Given the description of an element on the screen output the (x, y) to click on. 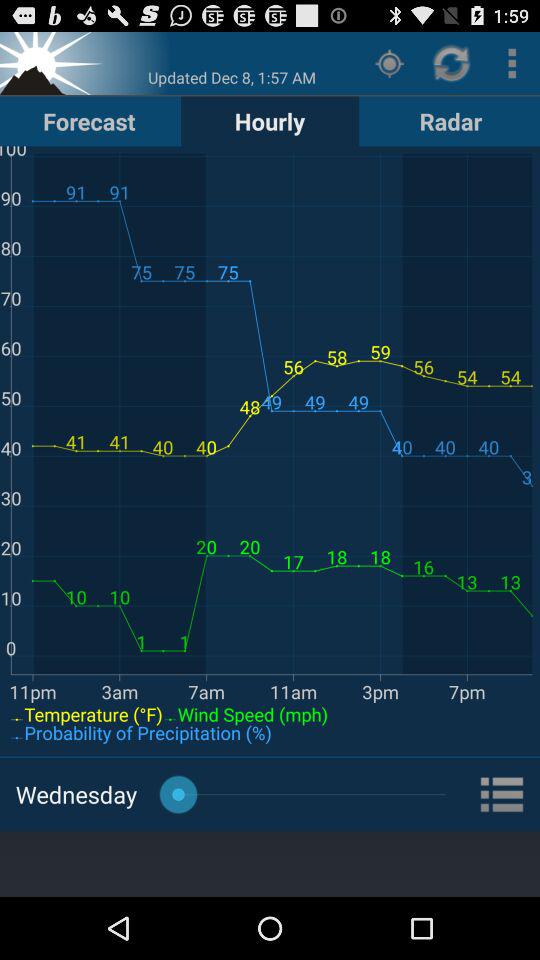
click button to the right of forecast (270, 120)
